Given the description of an element on the screen output the (x, y) to click on. 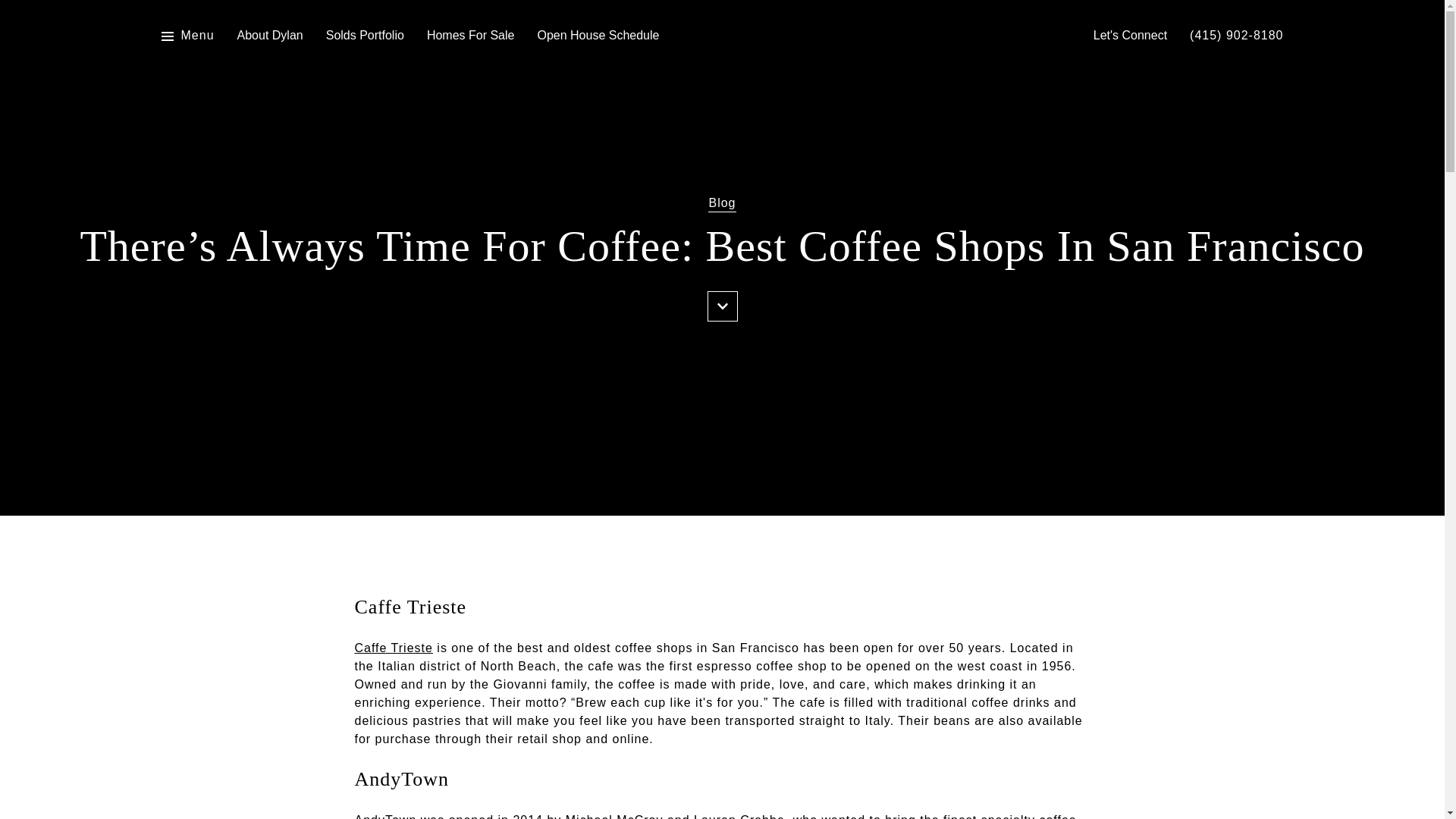
About Dylan (269, 35)
Let'S Connect (1130, 35)
AndyTown (385, 816)
Solds Portfolio (365, 35)
Open House Schedule (598, 35)
Caffe Trieste (393, 647)
Menu (197, 35)
Menu (187, 35)
Homes For Sale (470, 35)
